Given the description of an element on the screen output the (x, y) to click on. 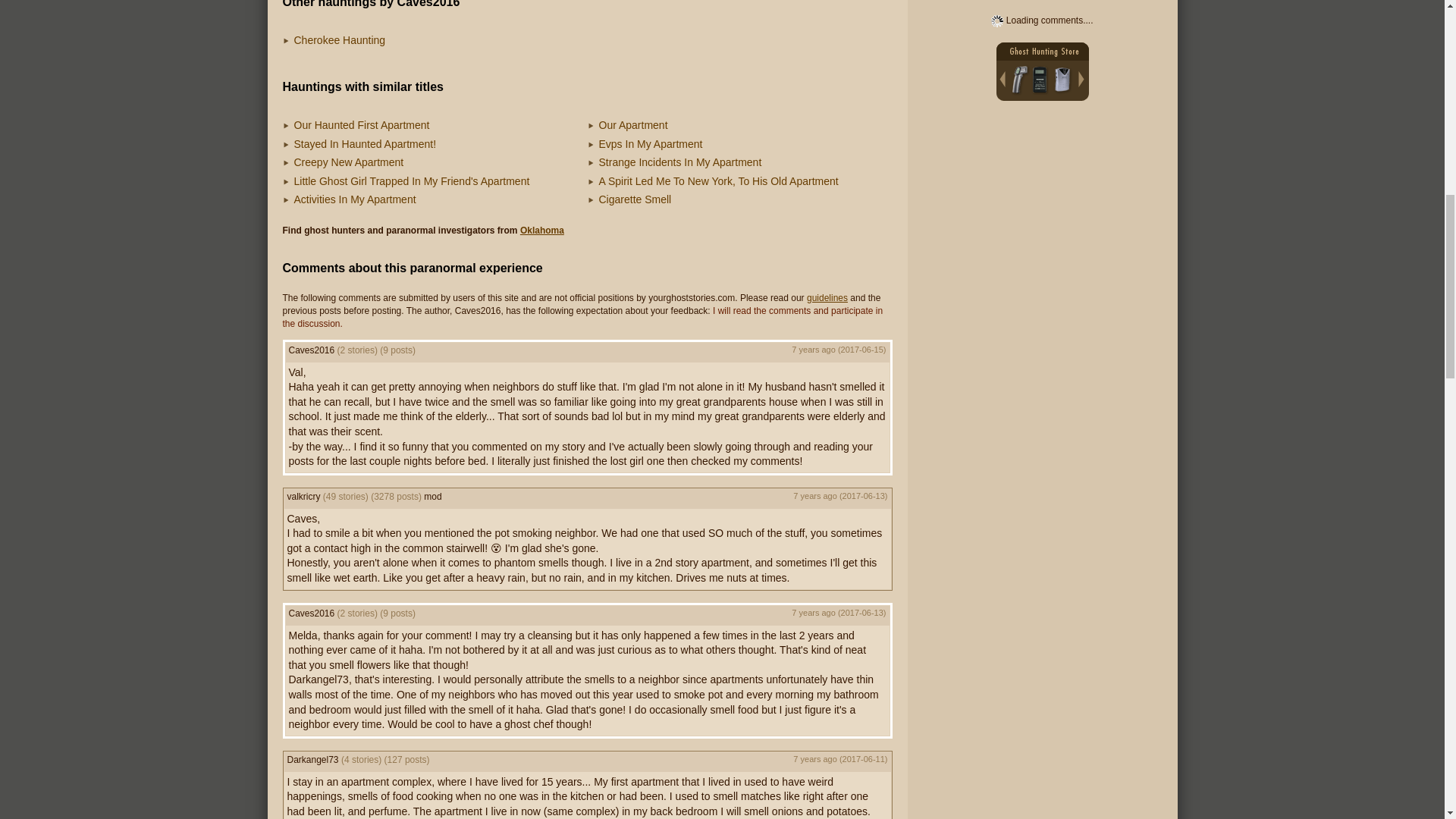
Our Haunted First Apartment (361, 124)
Little Ghost Girl Trapped In My Friend's Apartment (411, 181)
Evps In My Apartment (650, 143)
Our Apartment (633, 124)
Stayed In Haunted Apartment! (365, 143)
Cherokee Haunting (339, 39)
Creepy New Apartment (349, 162)
Activities In My Apartment (355, 199)
